Given the description of an element on the screen output the (x, y) to click on. 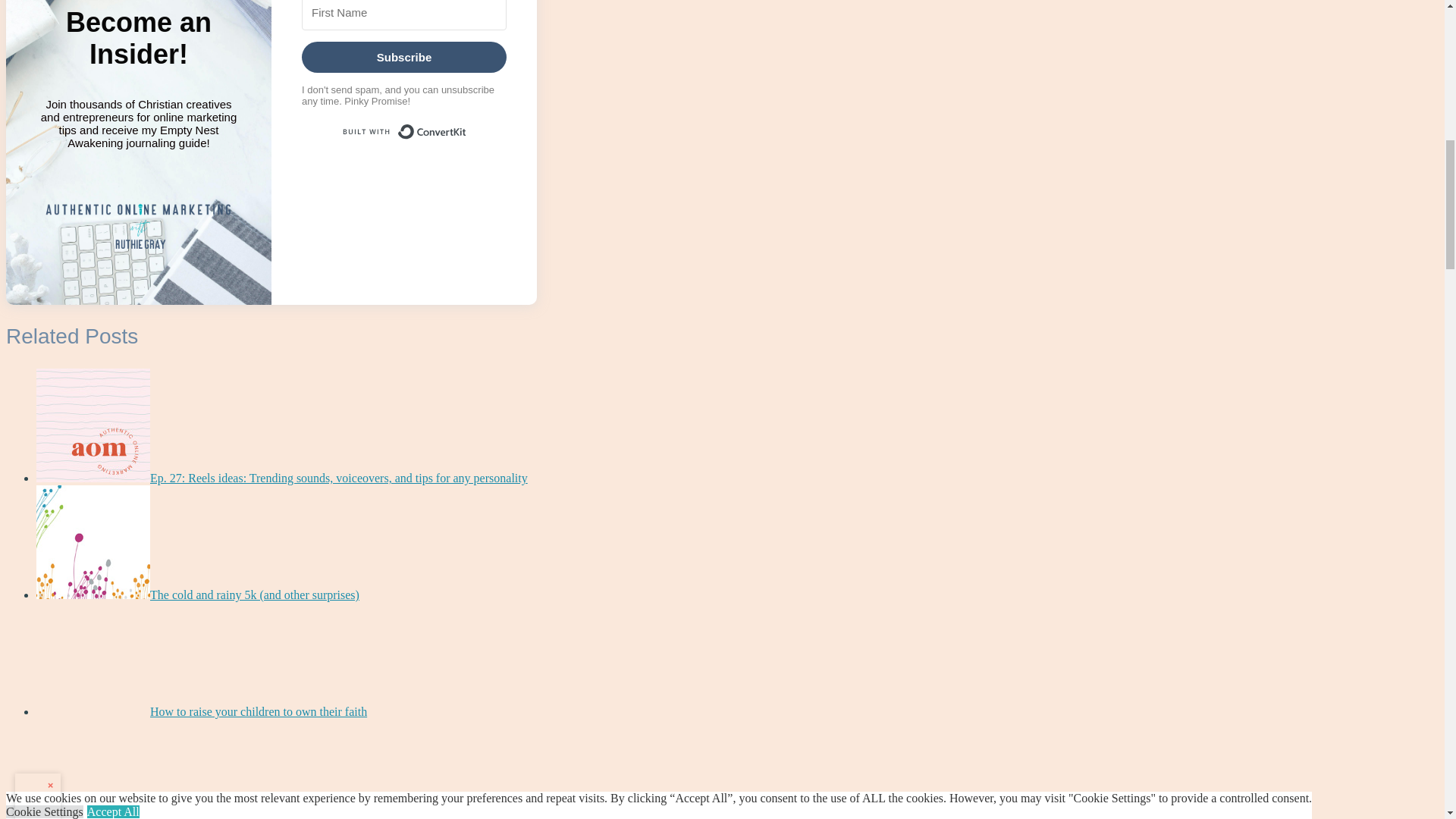
Built with ConvertKit (403, 131)
Subscribe (403, 56)
How to raise your children to own their faith (257, 711)
